Given the description of an element on the screen output the (x, y) to click on. 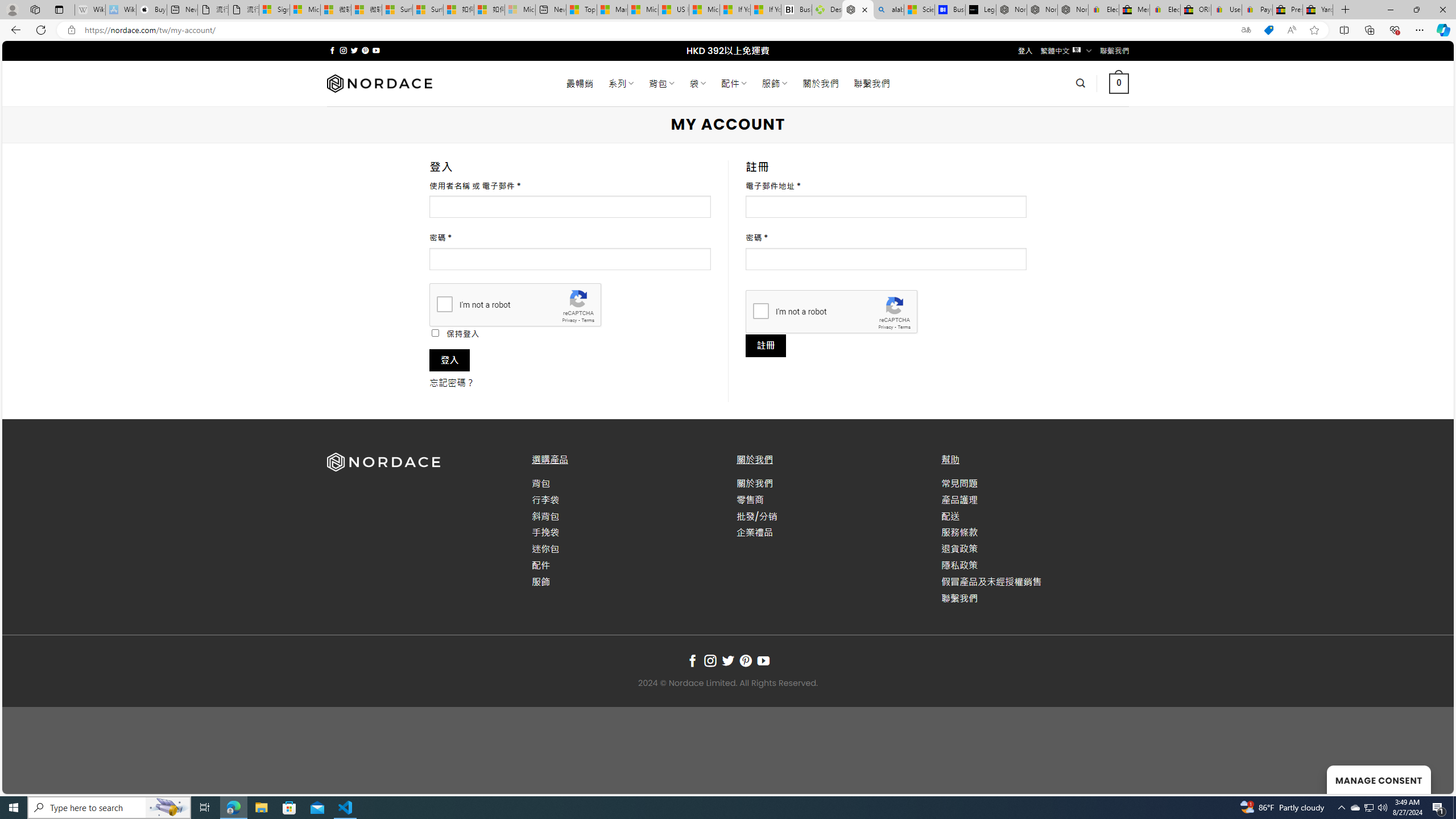
Press Room - eBay Inc. (1287, 9)
US Heat Deaths Soared To Record High Last Year (673, 9)
Marine life - MSN (611, 9)
I'm not a robot (760, 310)
